Given the description of an element on the screen output the (x, y) to click on. 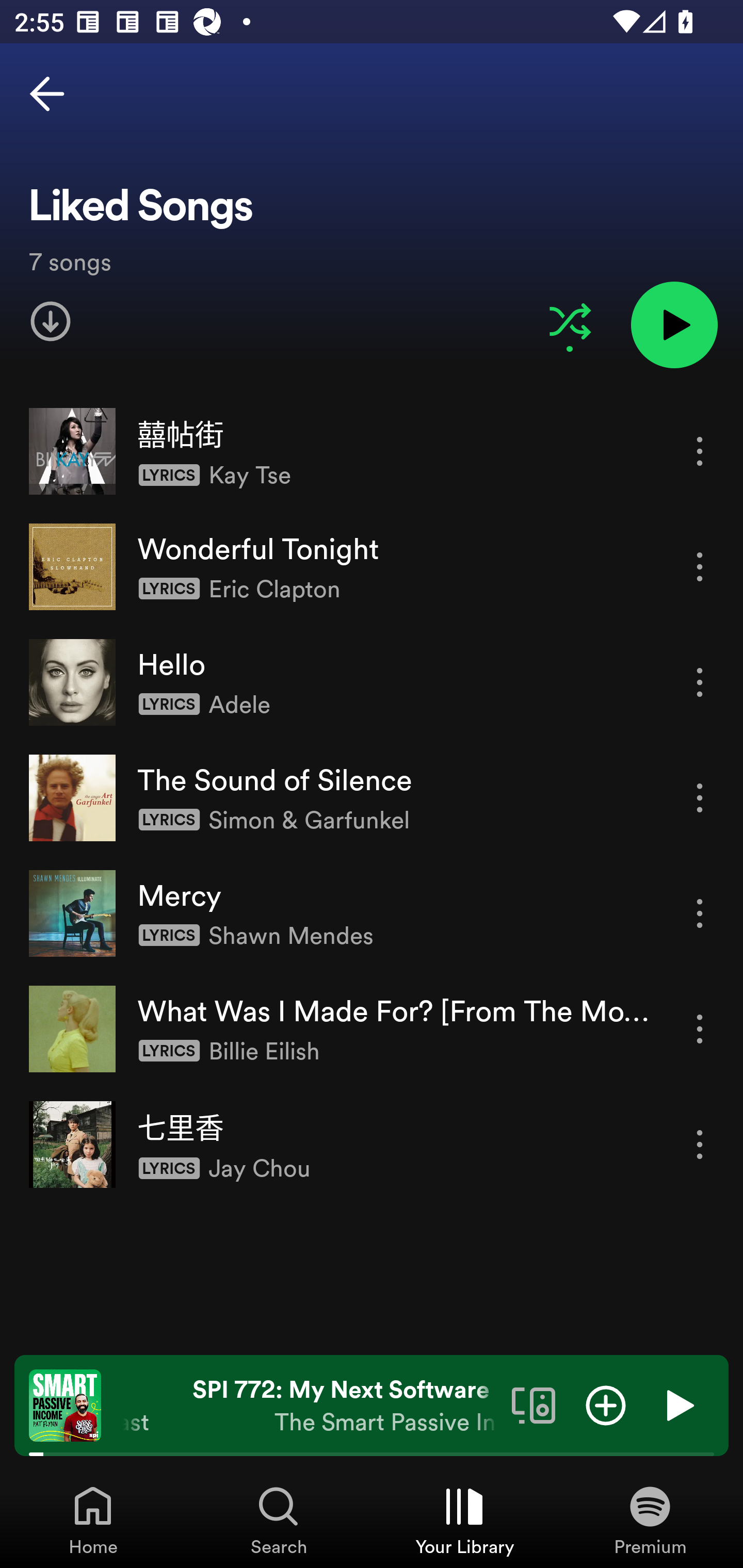
Back (46, 93)
Download (50, 321)
Disable shuffle for this liked songs (569, 321)
Play liked songs (674, 324)
囍帖街 More options for song 囍帖街 Lyrics Kay Tse (371, 451)
More options for song 囍帖街 (699, 450)
More options for song Wonderful Tonight (699, 566)
Hello More options for song Hello Lyrics Adele (371, 682)
More options for song Hello (699, 682)
More options for song The Sound of Silence (699, 798)
More options for song Mercy (699, 913)
七里香 More options for song 七里香 Lyrics Jay Chou (371, 1144)
More options for song 七里香 (699, 1144)
The cover art of the currently playing track (64, 1404)
Connect to a device. Opens the devices menu (533, 1404)
Add item (605, 1404)
Play (677, 1404)
Home, Tab 1 of 4 Home Home (92, 1519)
Search, Tab 2 of 4 Search Search (278, 1519)
Your Library, Tab 3 of 4 Your Library Your Library (464, 1519)
Premium, Tab 4 of 4 Premium Premium (650, 1519)
